Given the description of an element on the screen output the (x, y) to click on. 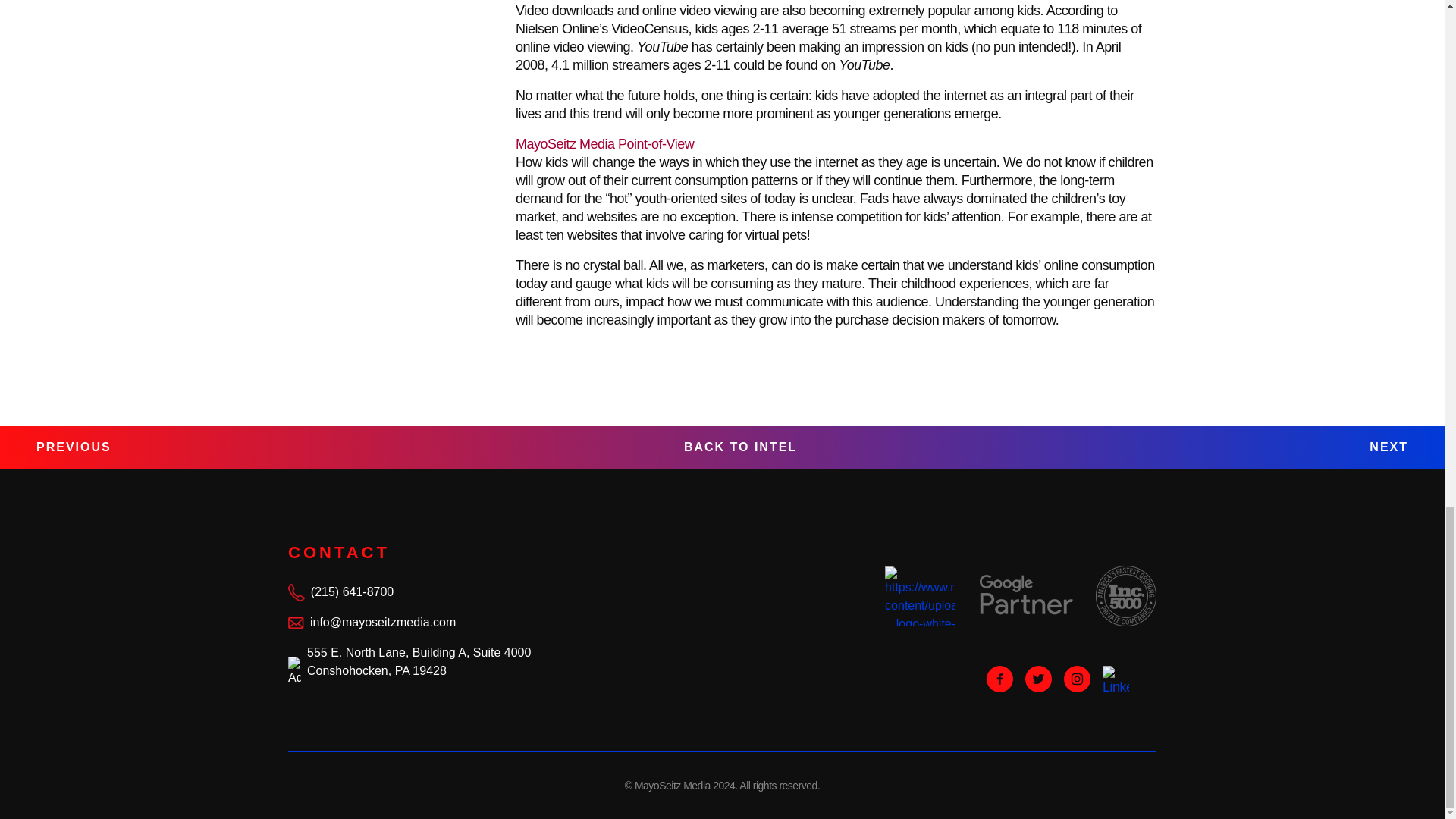
PREVIOUS (74, 447)
NEXT (1388, 447)
BACK TO INTEL (740, 447)
